Given the description of an element on the screen output the (x, y) to click on. 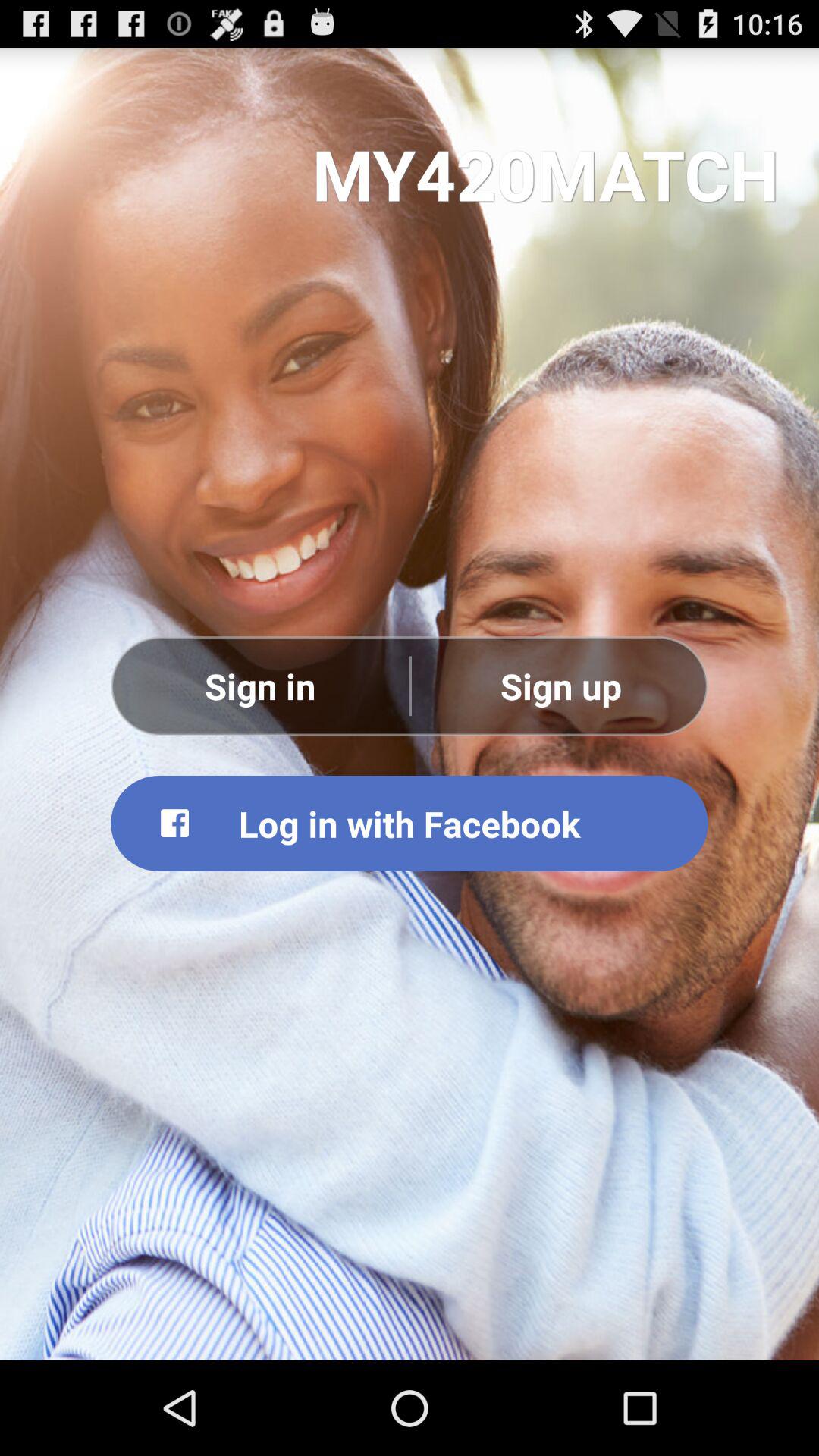
jump to sign in item (259, 685)
